Given the description of an element on the screen output the (x, y) to click on. 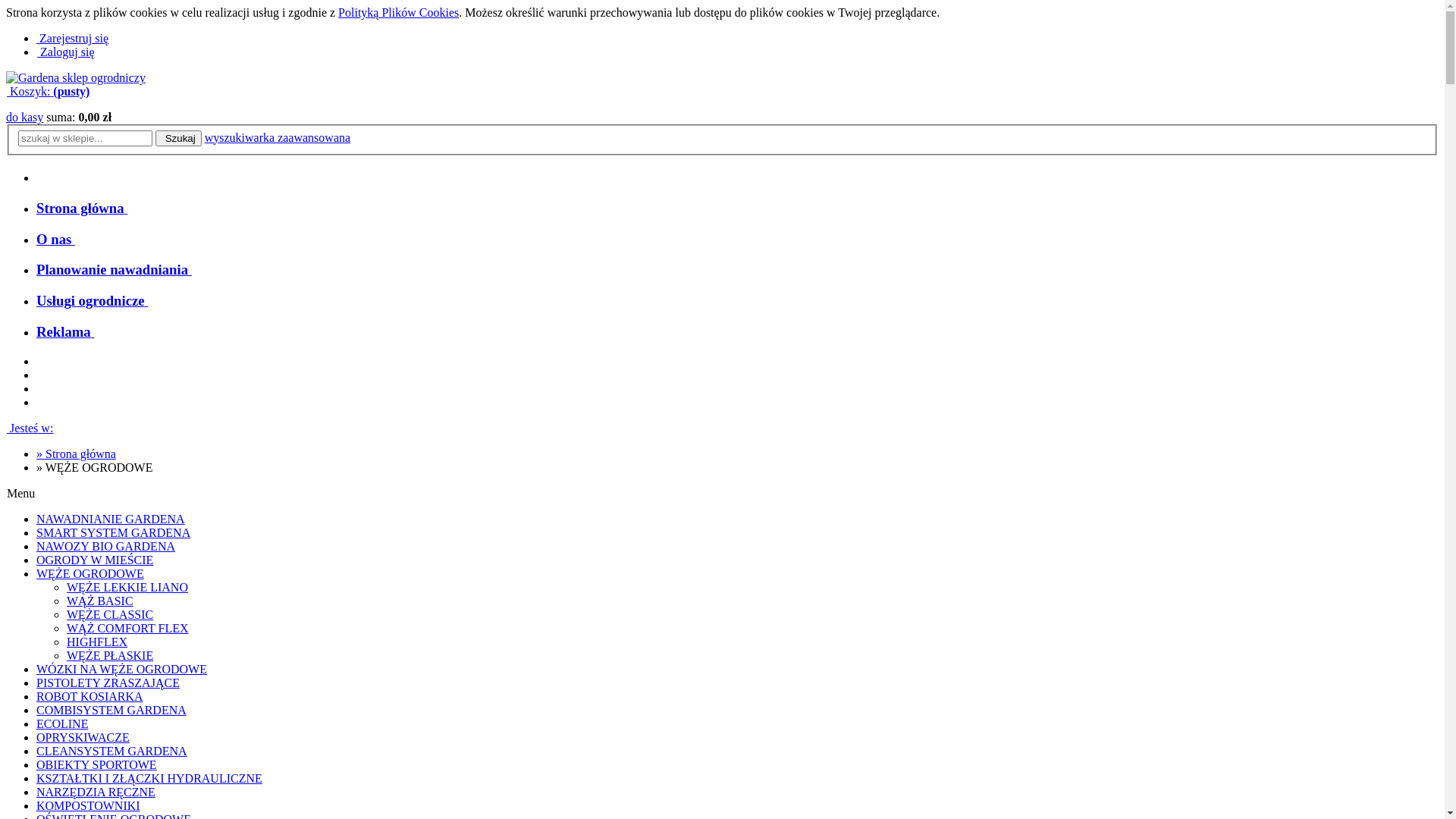
KOMPOSTOWNIKI Element type: text (88, 805)
Koszyk Element type: hover (36, 401)
Menu Element type: hover (36, 360)
O nas Element type: text (55, 239)
COMBISYSTEM GARDENA Element type: text (111, 709)
Planowanie nawadniania Element type: text (114, 269)
NAWADNIANIE GARDENA Element type: text (110, 518)
ECOLINE Element type: text (61, 723)
do kasy Element type: text (24, 116)
NAWOZY BIO GARDENA Element type: text (105, 545)
ROBOT KOSIARKA Element type: text (89, 696)
OPRYSKIWACZE Element type: text (82, 737)
Koszyk: (pusty) Element type: text (47, 90)
Moje konto Element type: hover (36, 388)
Szukaj Element type: hover (36, 374)
CLEANSYSTEM GARDENA Element type: text (111, 750)
Szukaj Element type: text (178, 138)
OBIEKTY SPORTOWE Element type: text (96, 764)
SMART SYSTEM GARDENA Element type: text (113, 532)
Reklama Element type: text (65, 331)
wyszukiwarka zaawansowana Element type: text (277, 137)
HIGHFLEX Element type: text (96, 641)
